Given the description of an element on the screen output the (x, y) to click on. 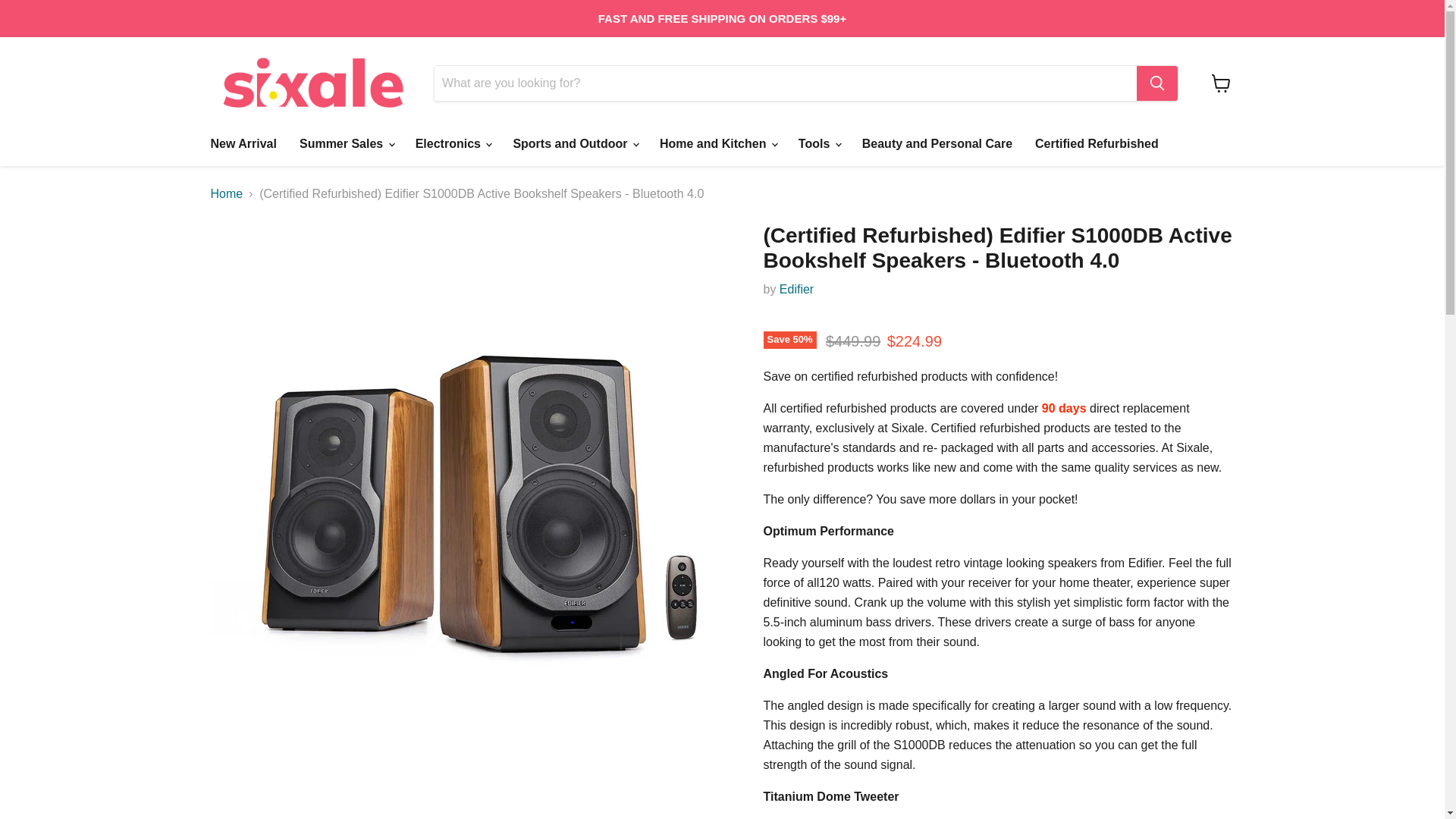
New Arrival (242, 143)
View cart (1221, 82)
Edifier (795, 288)
